Given the description of an element on the screen output the (x, y) to click on. 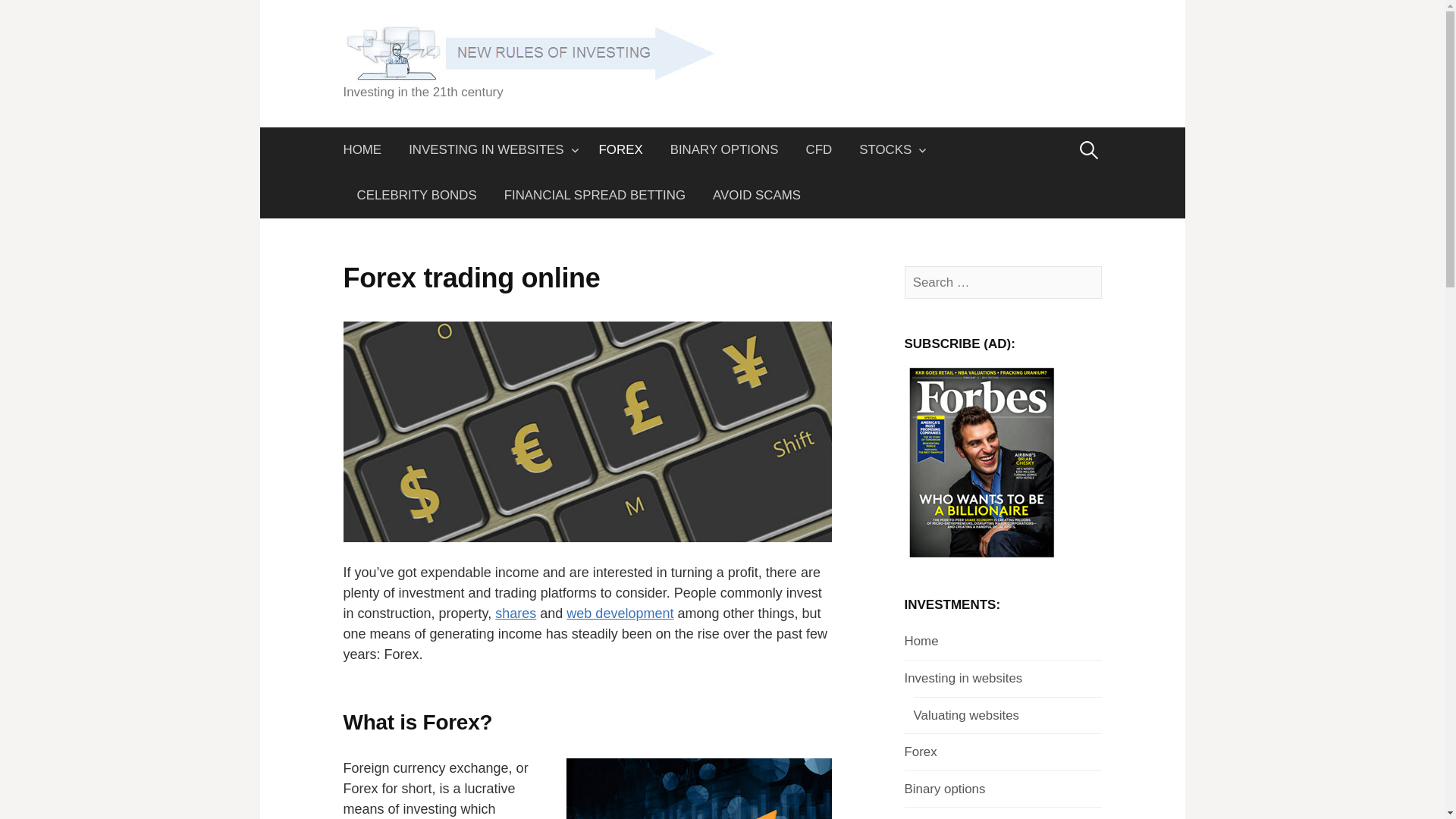
BINARY OPTIONS (724, 149)
CFD (818, 149)
FINANCIAL SPREAD BETTING (594, 195)
AVOID SCAMS (755, 195)
HOME (368, 149)
web development (619, 613)
Search (40, 16)
Binary options (944, 789)
Investing in websites (963, 677)
Home (920, 640)
STOCKS (889, 149)
FOREX (620, 149)
Search (16, 16)
CELEBRITY BONDS (415, 195)
